Given the description of an element on the screen output the (x, y) to click on. 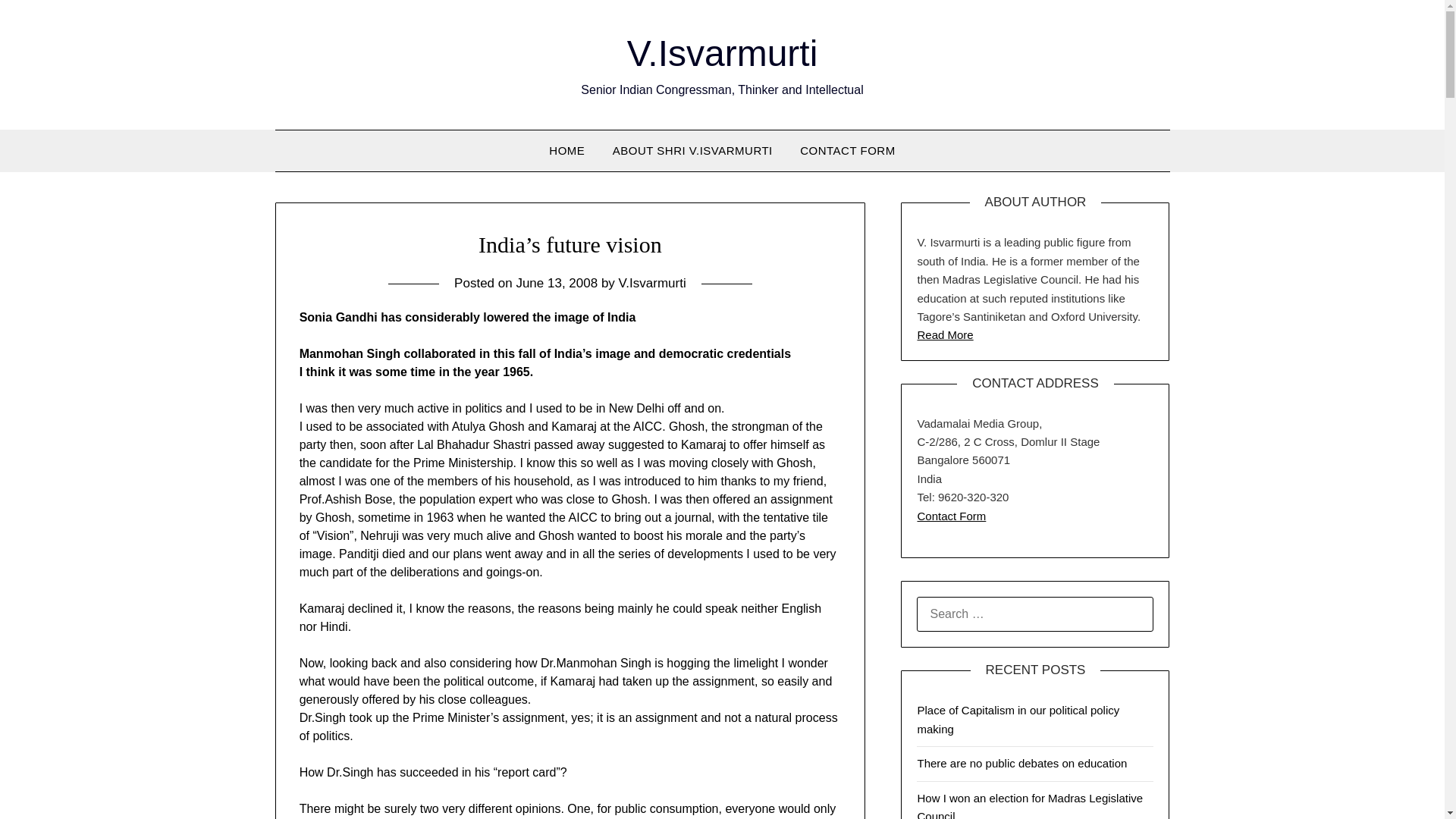
Contact Form (951, 515)
June 13, 2008 (555, 283)
Read More (944, 334)
How I won an election for Madras Legislative Council (1029, 805)
There are no public debates on education (1021, 762)
Place of Capitalism in our political policy making (1018, 718)
V.Isvarmurti (651, 283)
Search (38, 22)
ABOUT SHRI V.ISVARMURTI (691, 150)
HOME (566, 150)
